Given the description of an element on the screen output the (x, y) to click on. 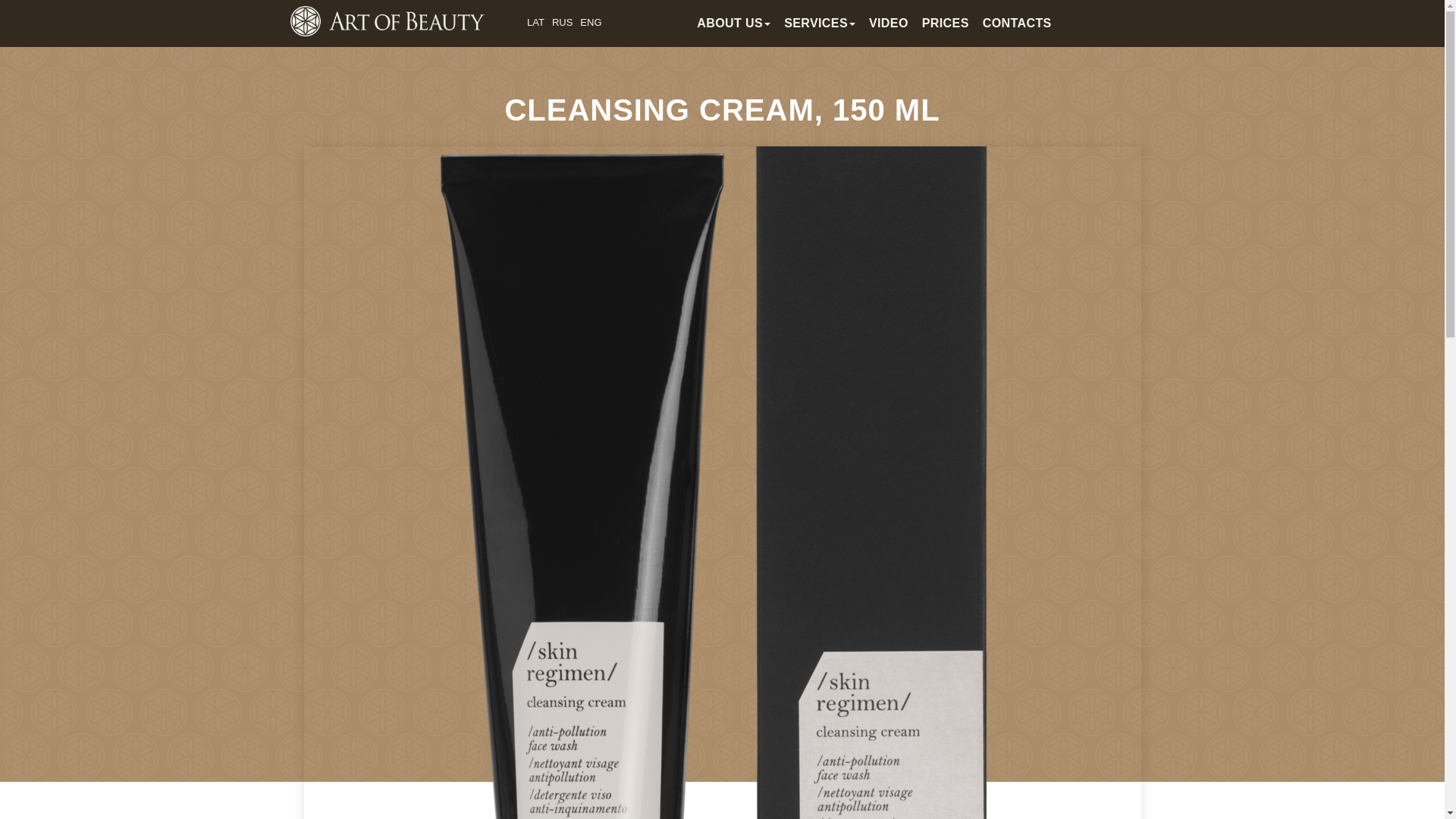
Services (819, 23)
About Us (733, 23)
SERVICES (819, 23)
ABOUT US (733, 23)
